Given the description of an element on the screen output the (x, y) to click on. 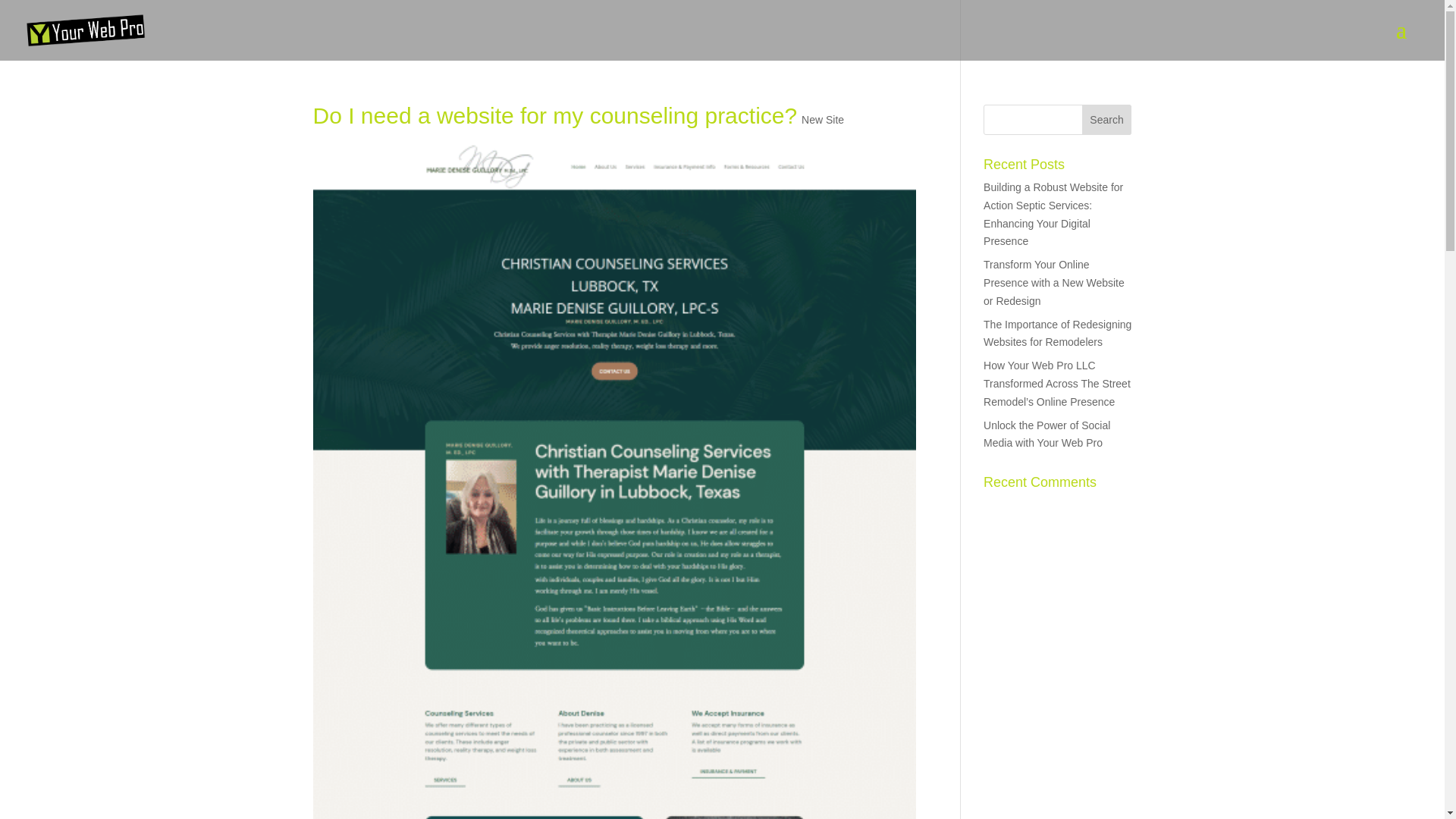
Search (1106, 119)
Search (1106, 119)
Unlock the Power of Social Media with Your Web Pro (1046, 434)
New Site (823, 119)
The Importance of Redesigning Websites for Remodelers (1057, 333)
